Given the description of an element on the screen output the (x, y) to click on. 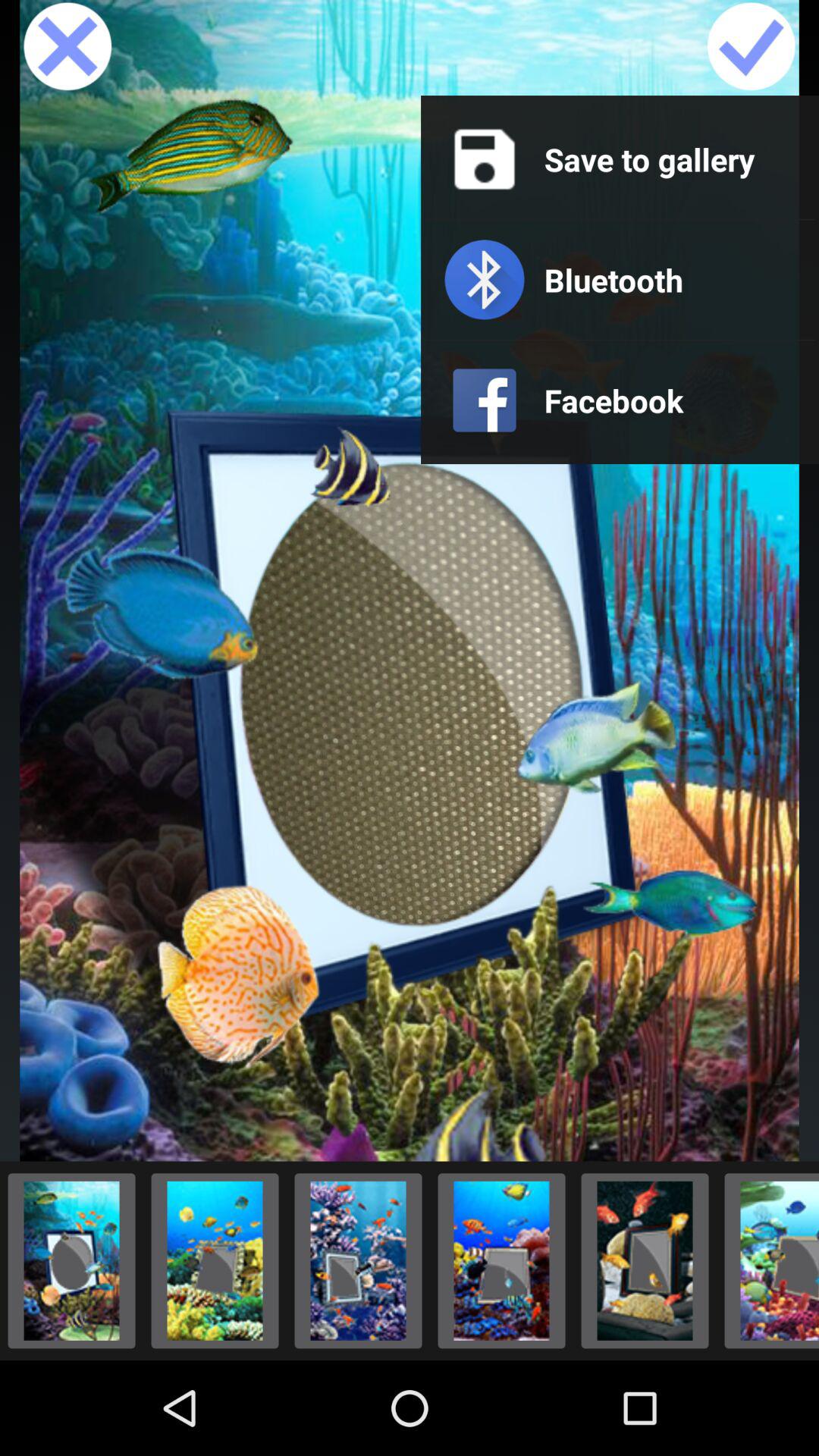
go to the photo (501, 1260)
